Given the description of an element on the screen output the (x, y) to click on. 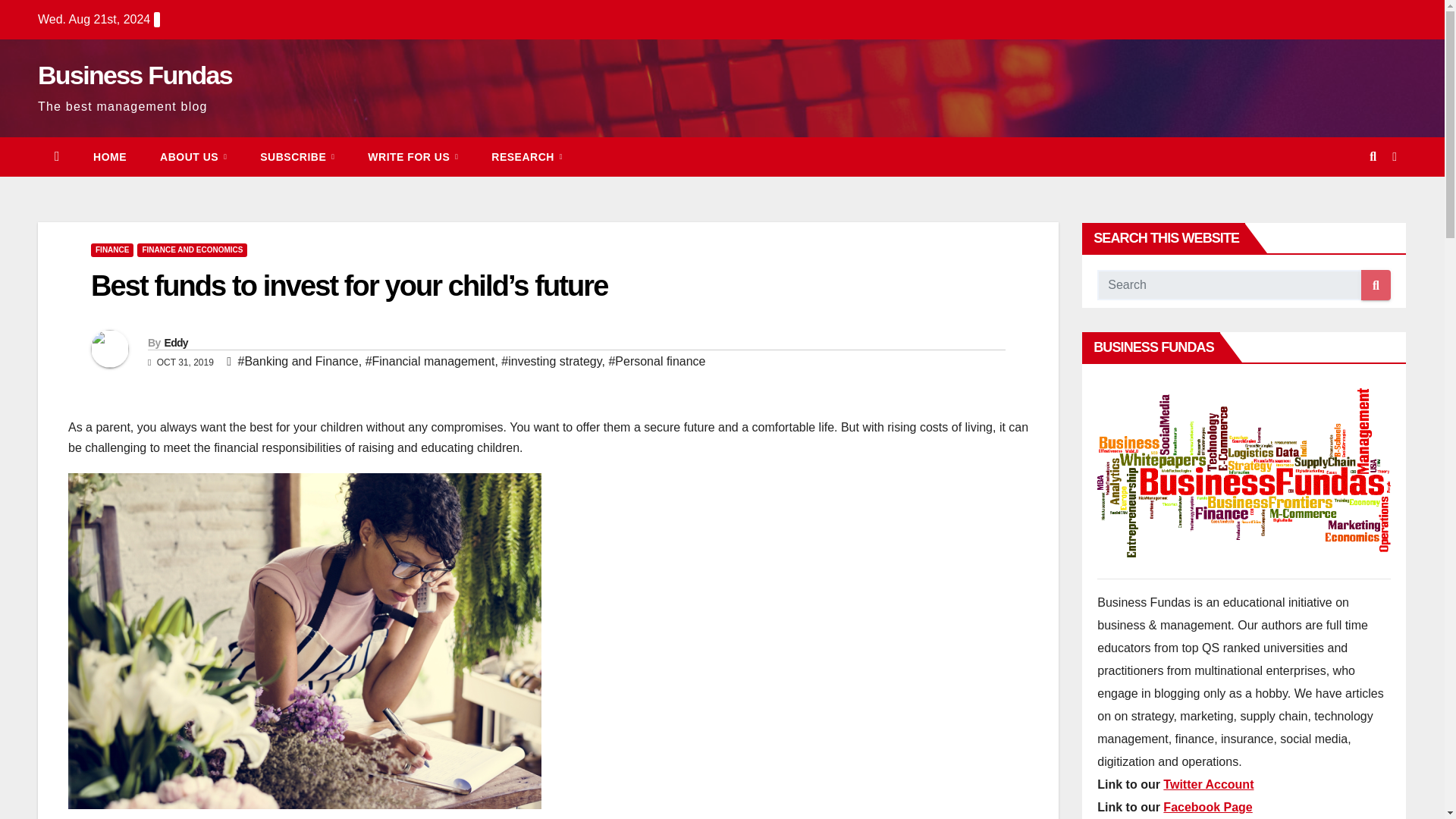
RESEARCH (526, 156)
HOME (109, 156)
ABOUT US (192, 156)
SUBSCRIBE (296, 156)
Eddy (175, 342)
Subscribe (296, 156)
Home (109, 156)
About Us (192, 156)
WRITE FOR US (412, 156)
Business Fundas (134, 74)
